Given the description of an element on the screen output the (x, y) to click on. 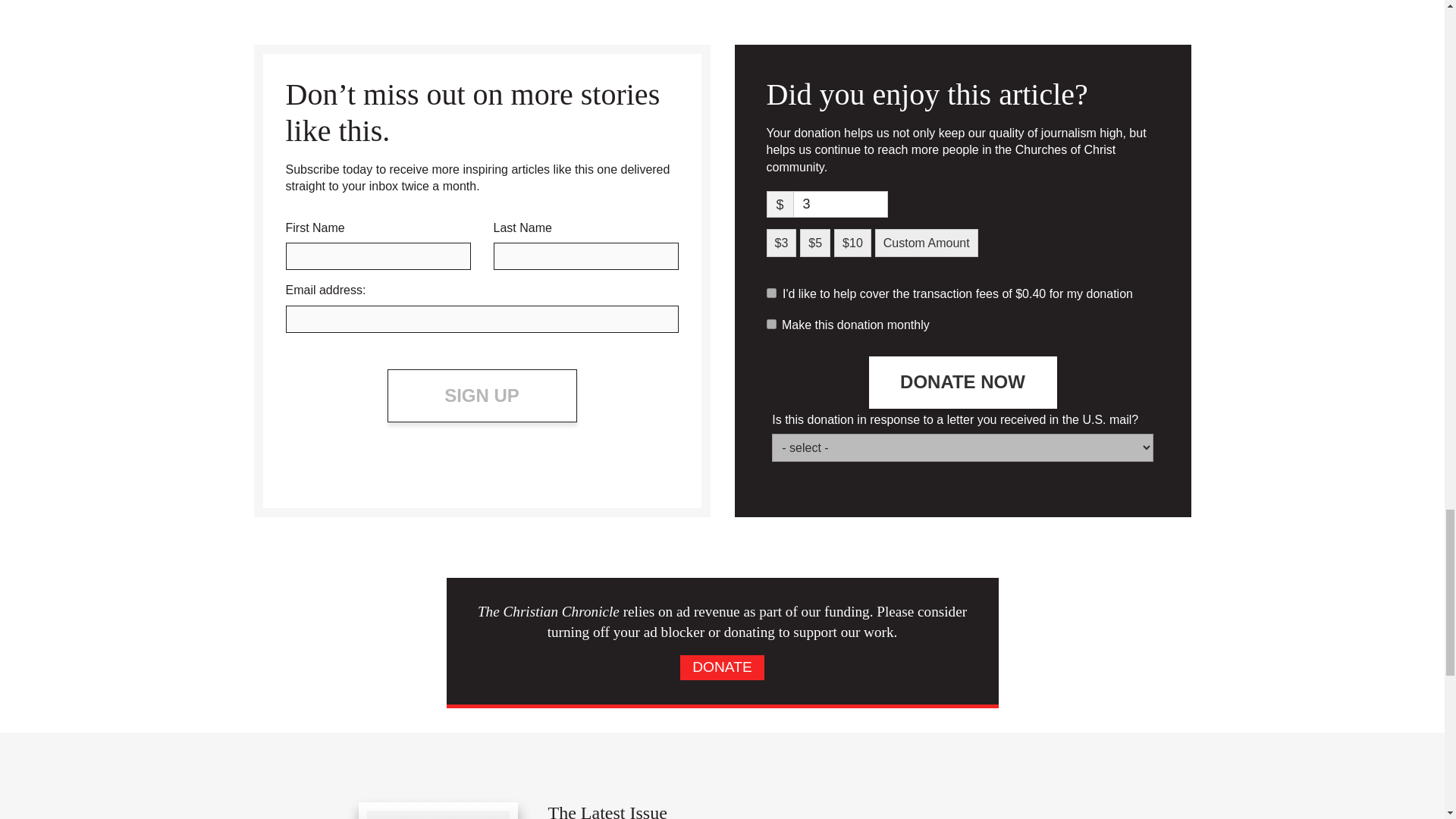
Sign up (481, 395)
on (770, 324)
3 (840, 203)
1 (770, 293)
